Given the description of an element on the screen output the (x, y) to click on. 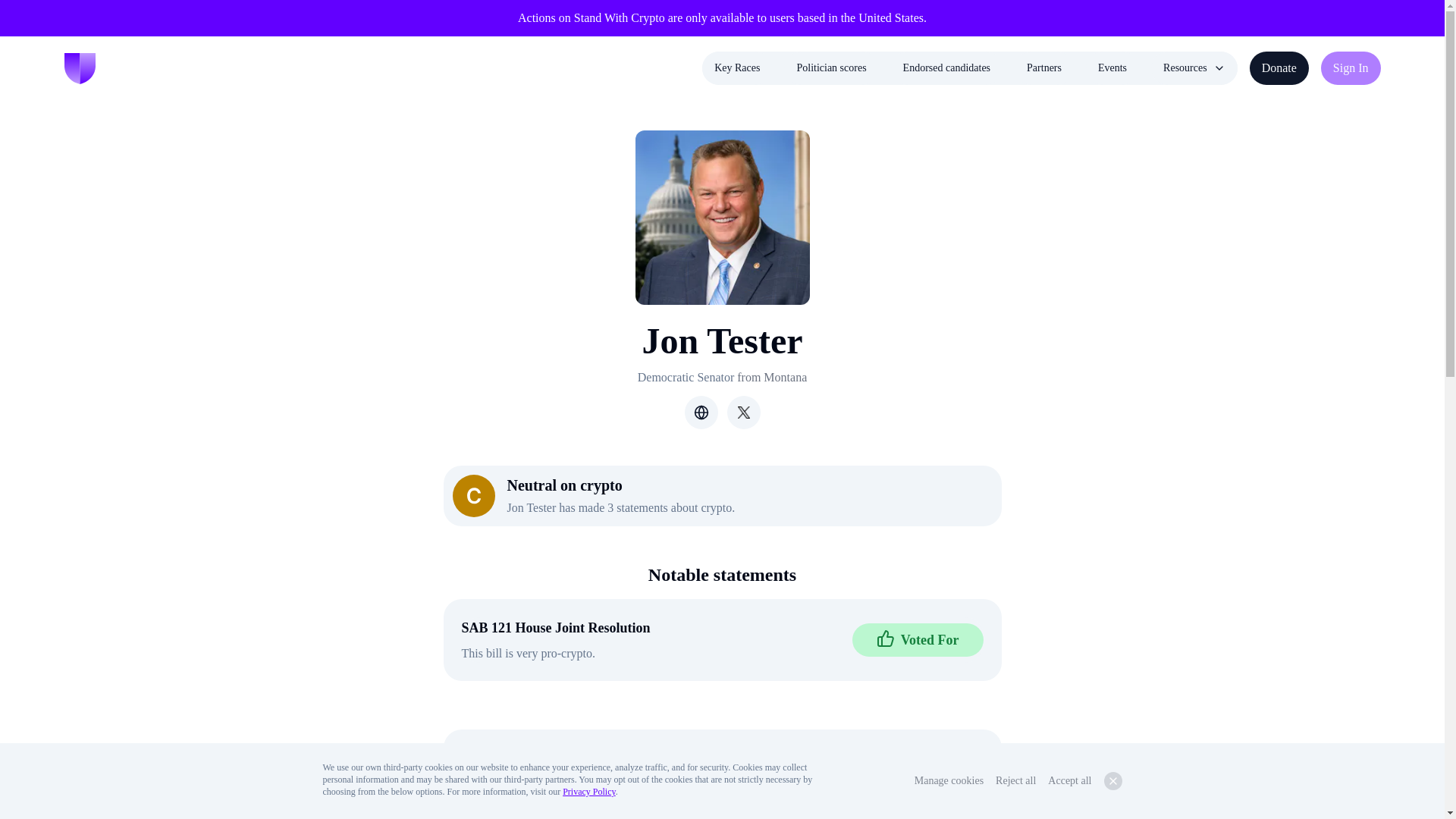
Partners (1044, 68)
Politician scores (830, 68)
argued (812, 799)
Privacy Policy (588, 791)
Events (1112, 68)
Sign In (1350, 68)
Key Races (736, 68)
cointelegraph.com (575, 756)
SAB 121 House Joint Resolution (555, 627)
